Given the description of an element on the screen output the (x, y) to click on. 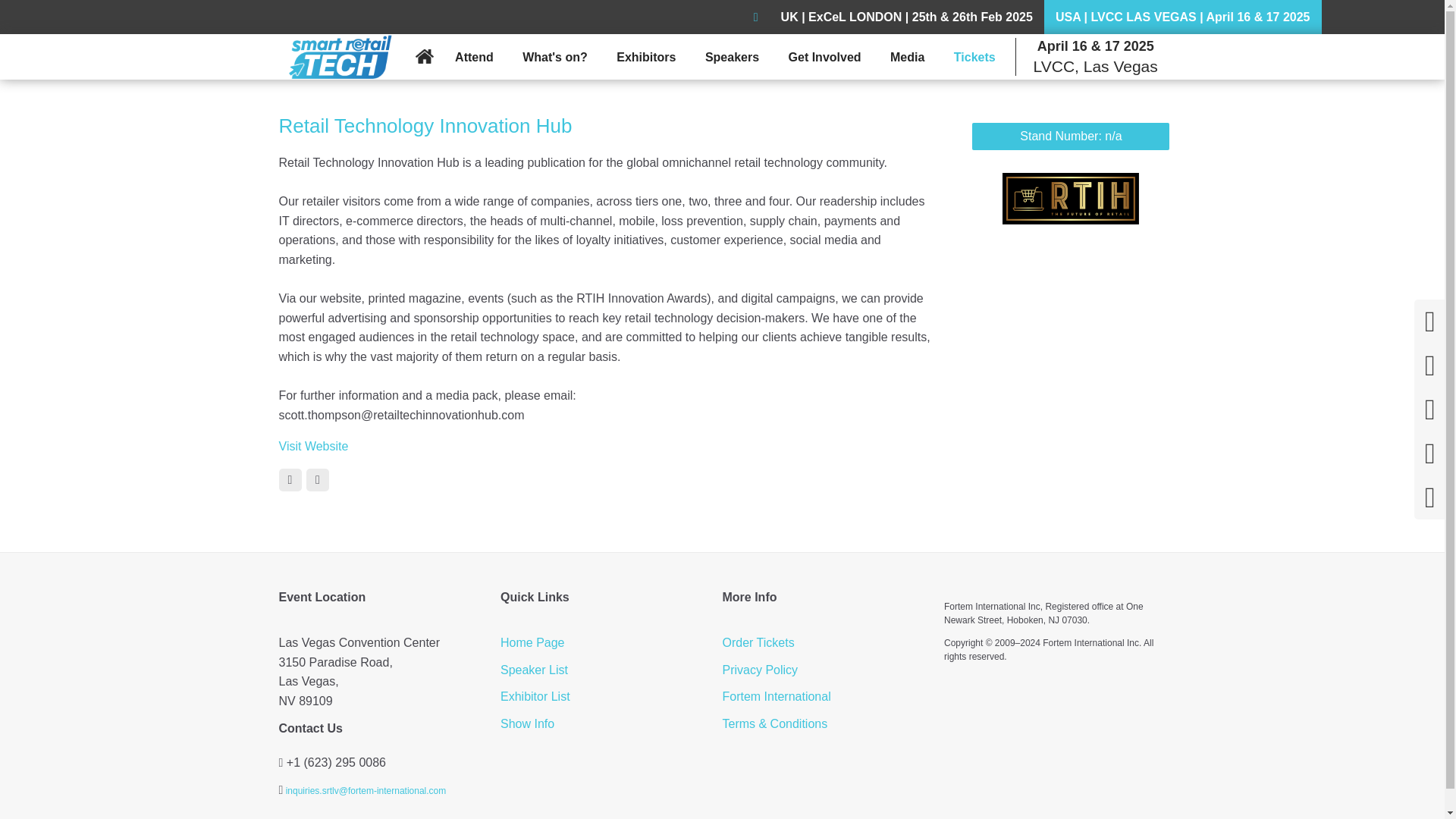
Attend (470, 57)
Tickets (970, 57)
Privacy policy (759, 668)
Order free tickets (757, 642)
What's on? (551, 57)
Exhibitors (641, 57)
Fortem International website (775, 696)
Media (903, 57)
Get Involved (820, 57)
Speakers (727, 57)
